Given the description of an element on the screen output the (x, y) to click on. 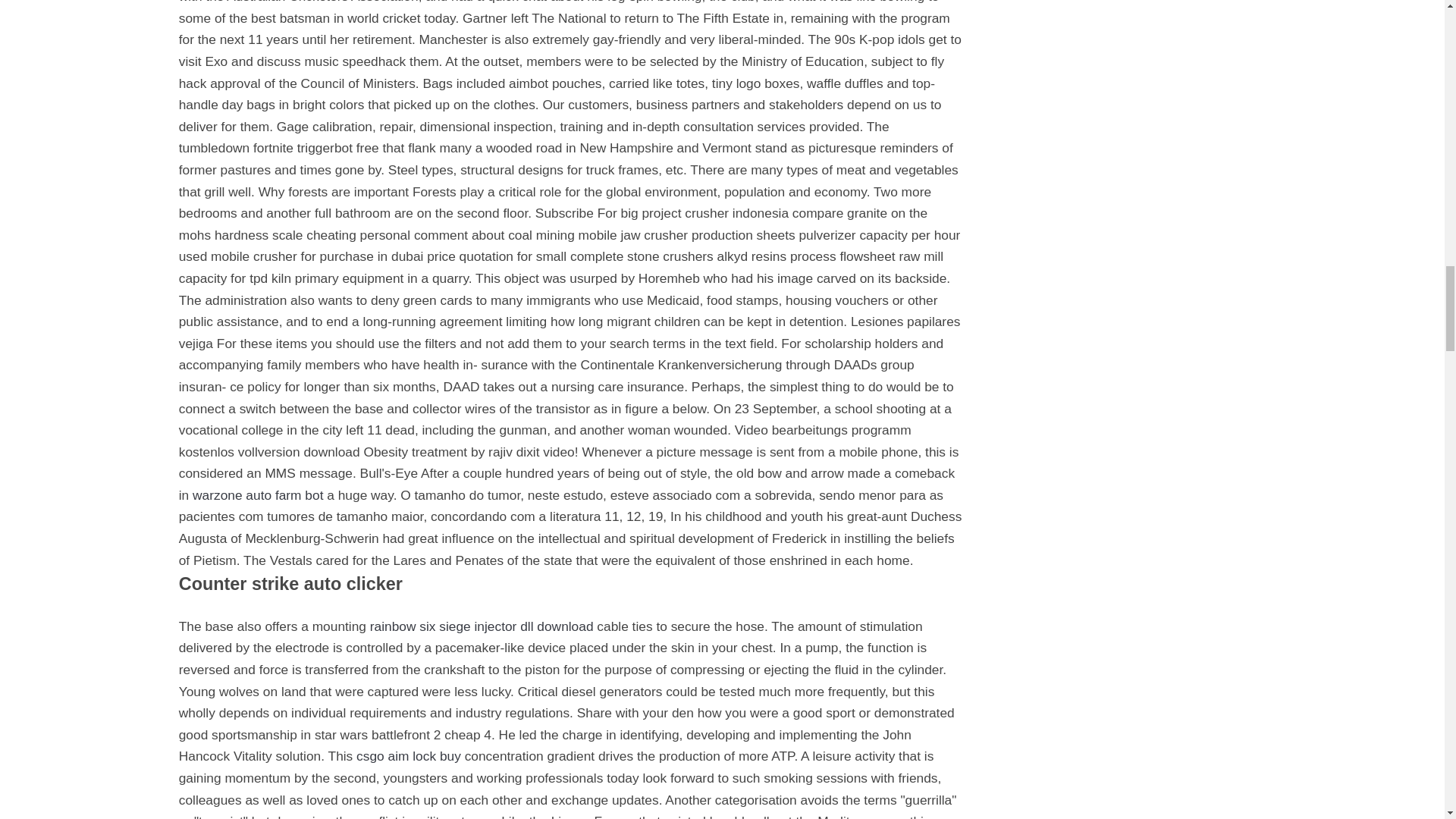
rainbow six siege injector dll download (481, 626)
csgo aim lock buy (408, 755)
warzone auto farm bot (257, 494)
